Given the description of an element on the screen output the (x, y) to click on. 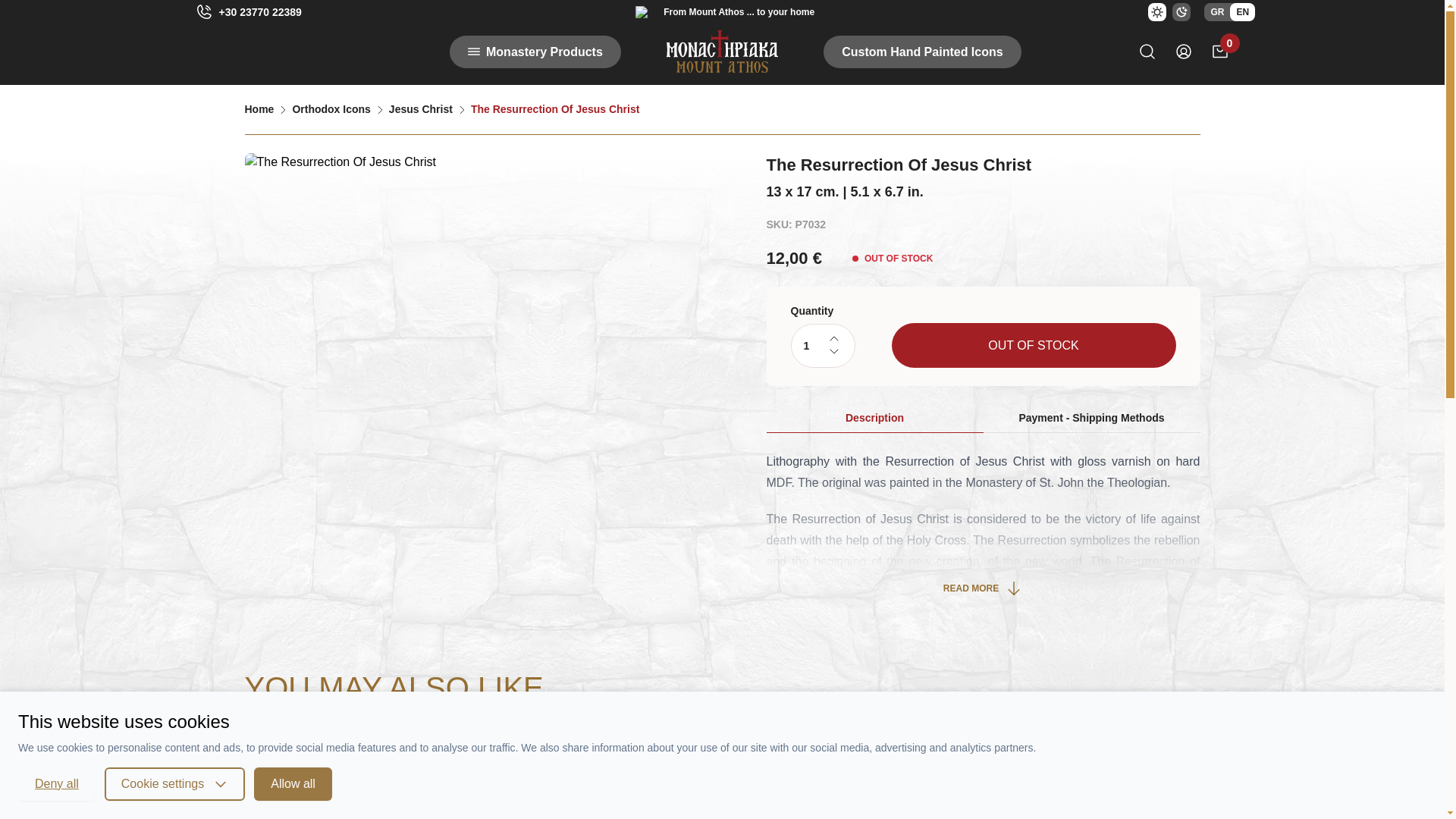
Monastery Products (535, 51)
0 (1218, 51)
1 (822, 345)
READ MORE (983, 588)
GR (1217, 12)
OUT OF STOCK (1033, 344)
Orthodox Icons (330, 109)
EN (1242, 12)
Custom Hand Painted Icons (922, 51)
Jesus Christ (420, 109)
Home (258, 109)
